Given the description of an element on the screen output the (x, y) to click on. 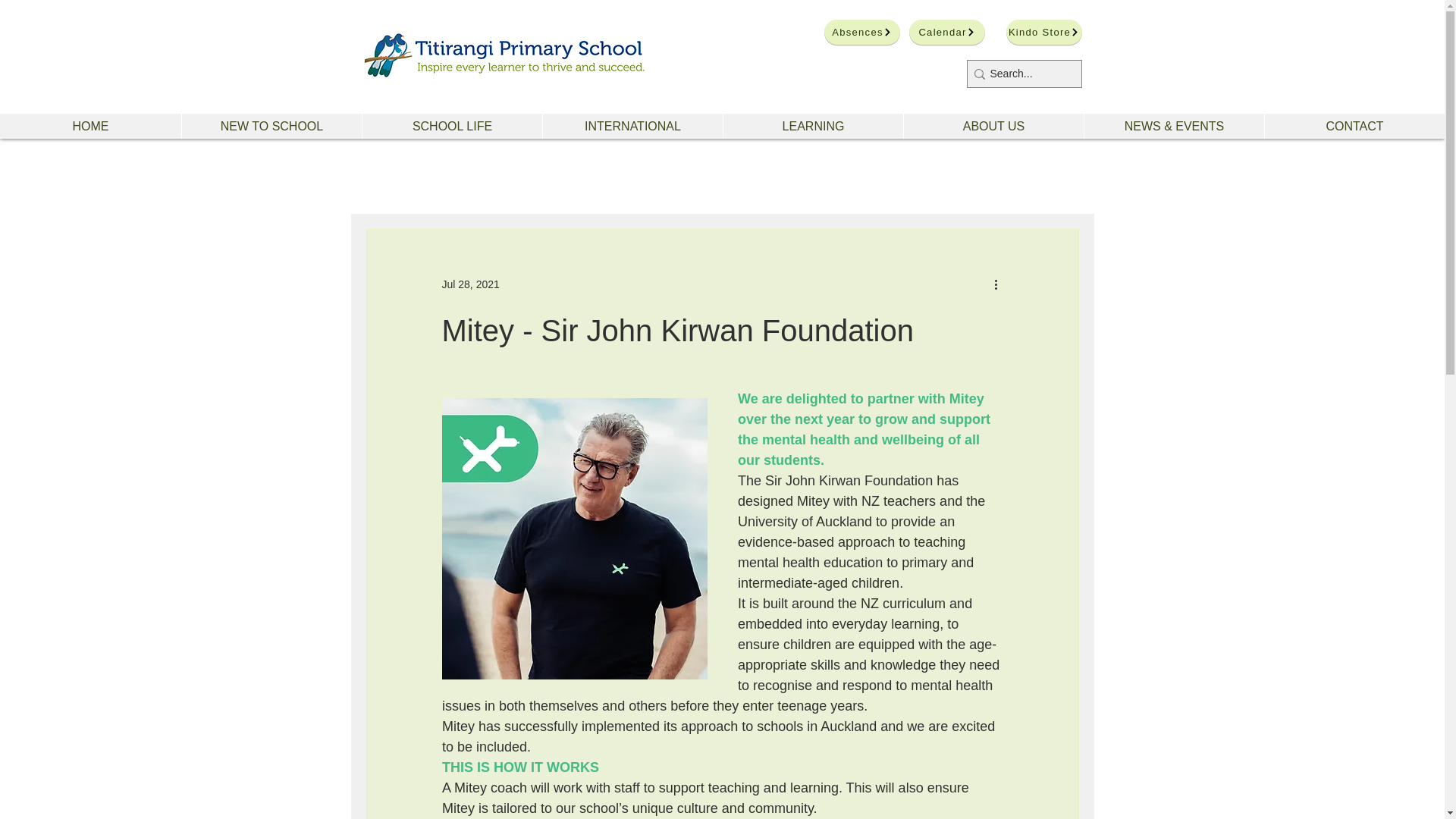
Calendar (946, 32)
Jul 28, 2021 (470, 283)
LEARNING (812, 125)
INTERNATIONAL (631, 125)
NEW TO SCHOOL (270, 125)
HOME (90, 125)
Absences (861, 32)
SCHOOL LIFE (451, 125)
Kindo Store (1043, 32)
ABOUT US (992, 125)
